Given the description of an element on the screen output the (x, y) to click on. 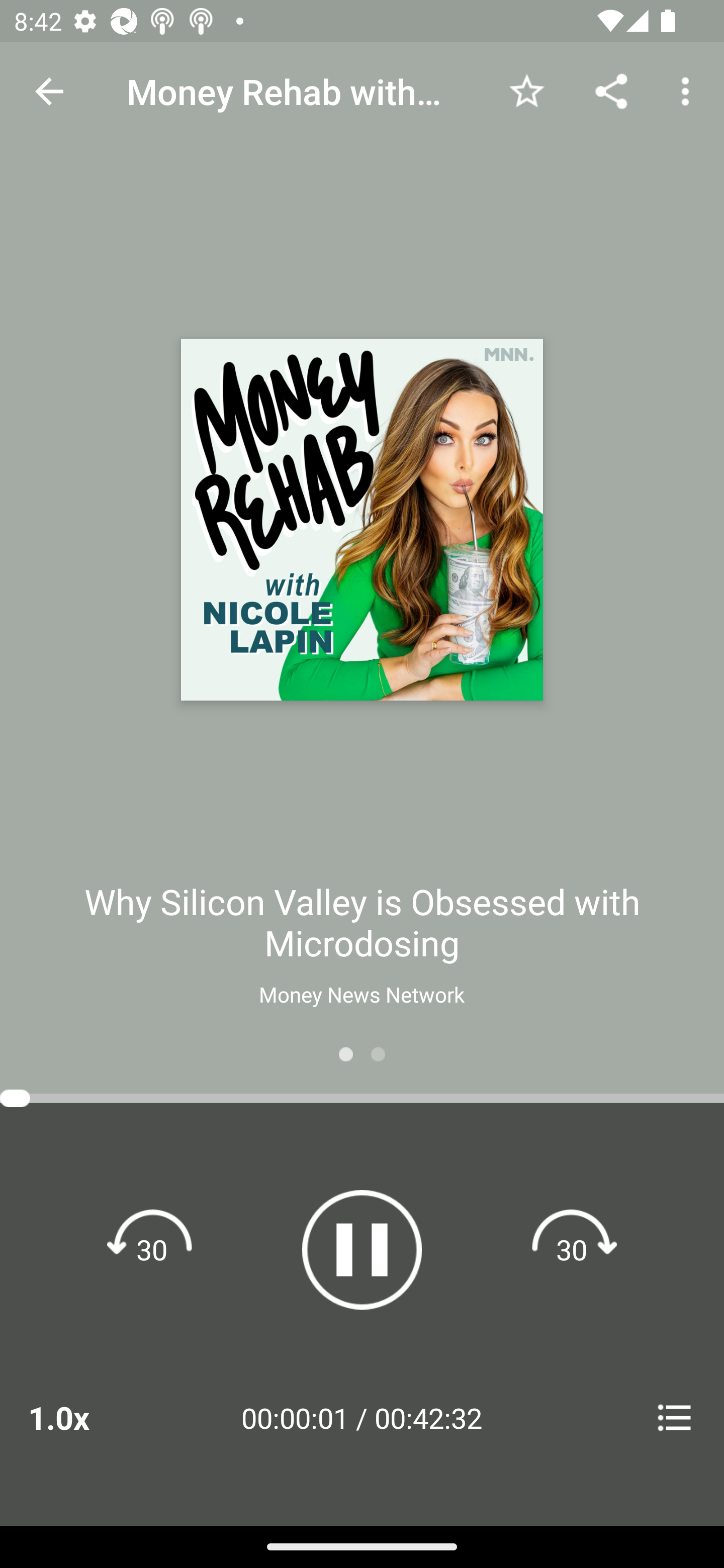
Navigate up (49, 91)
Add to Favorites (526, 90)
Share... (611, 90)
More options (688, 90)
Money News Network (361, 994)
Pause (361, 1249)
Rewind (151, 1249)
Fast forward (571, 1249)
1.0x Playback Speeds (84, 1417)
00:42:32 (428, 1417)
